Given the description of an element on the screen output the (x, y) to click on. 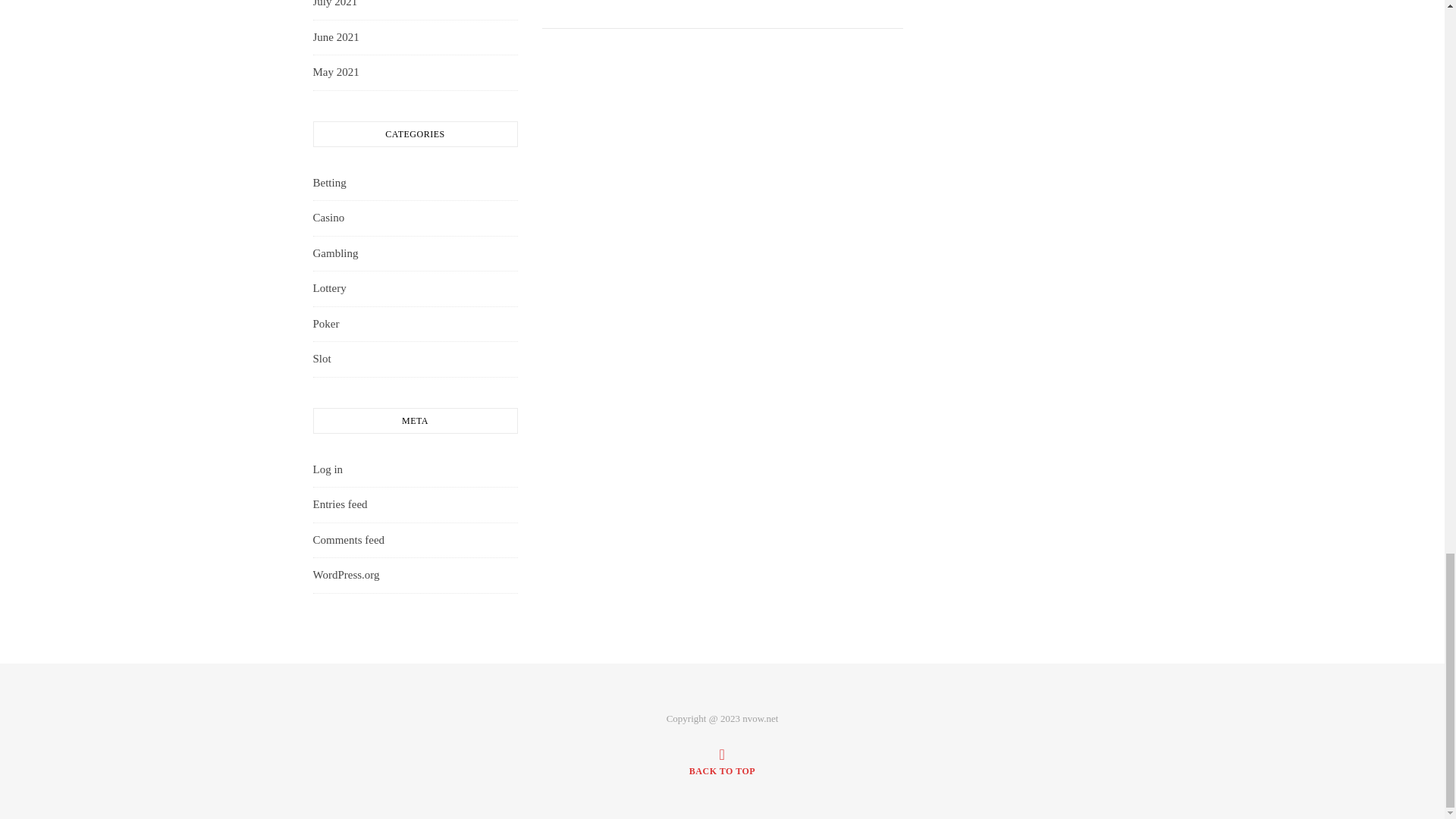
BACK TO TOP (722, 761)
